Given the description of an element on the screen output the (x, y) to click on. 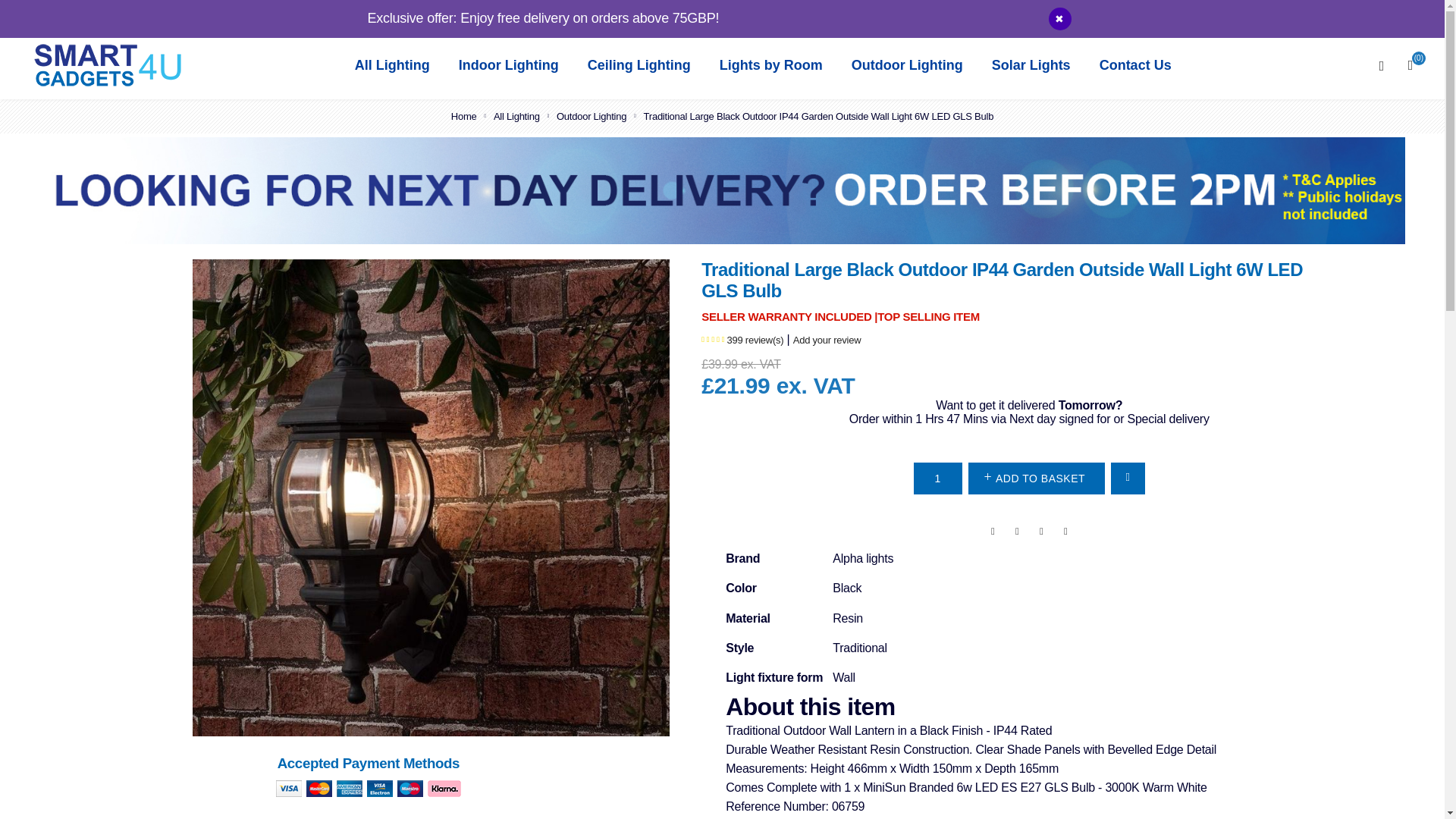
Contact Us (1135, 64)
REGISTER (1335, 15)
1 (938, 478)
Lights by Room (770, 64)
Ceiling Lighting (638, 64)
All Lighting (392, 64)
Indoor Lighting (508, 64)
LOG IN (1400, 15)
Outdoor Lighting (907, 64)
Solar Lights (1031, 64)
